Given the description of an element on the screen output the (x, y) to click on. 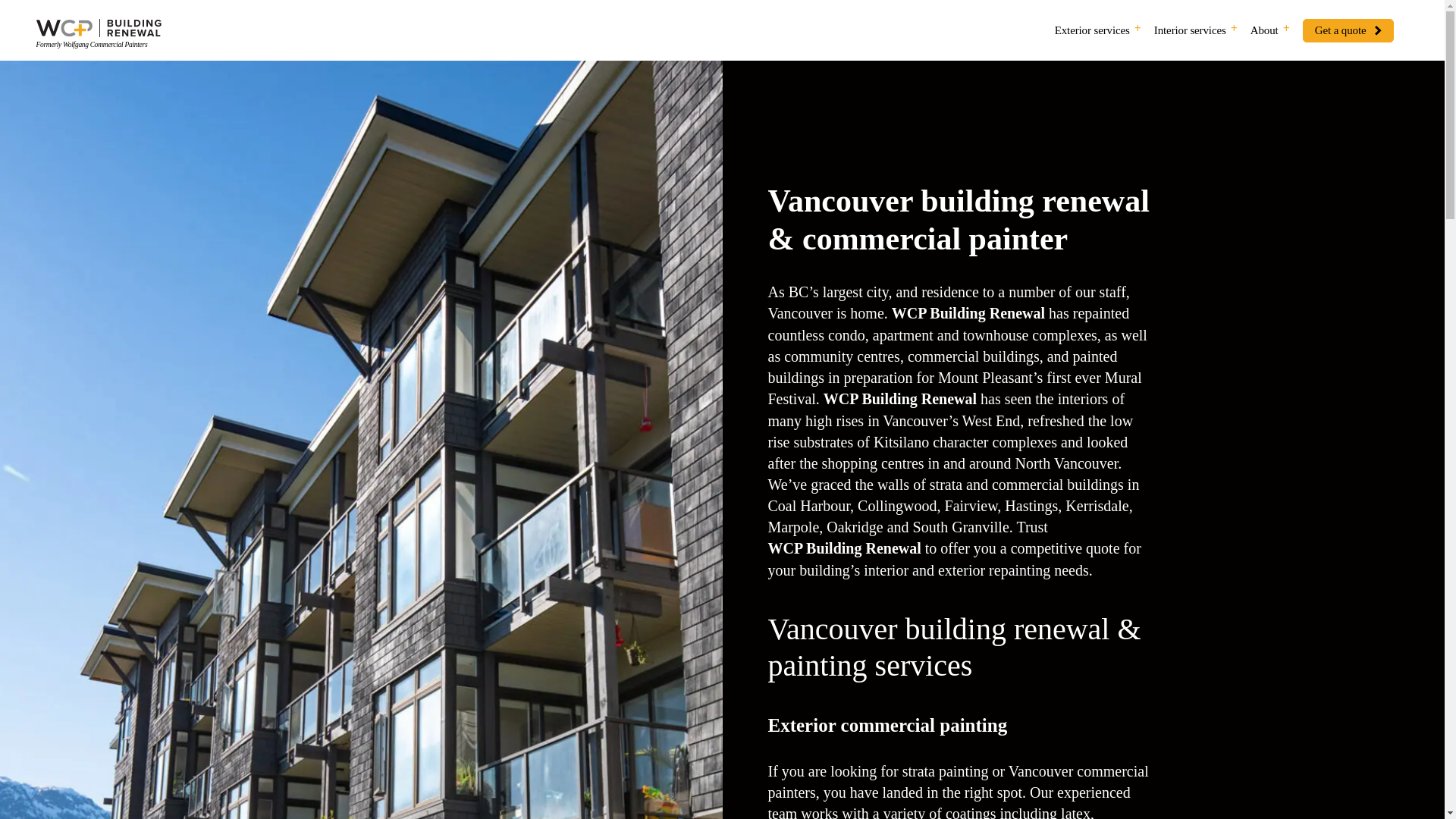
Exterior commercial painting (887, 725)
WCP Building Renewal (900, 399)
Exterior services (1095, 29)
Get a quote (1348, 29)
Interior services (1193, 29)
WCP Building Renewal (968, 313)
Exterior commercial painting (887, 725)
About (1267, 29)
WCP Building Renewal (843, 548)
